Given the description of an element on the screen output the (x, y) to click on. 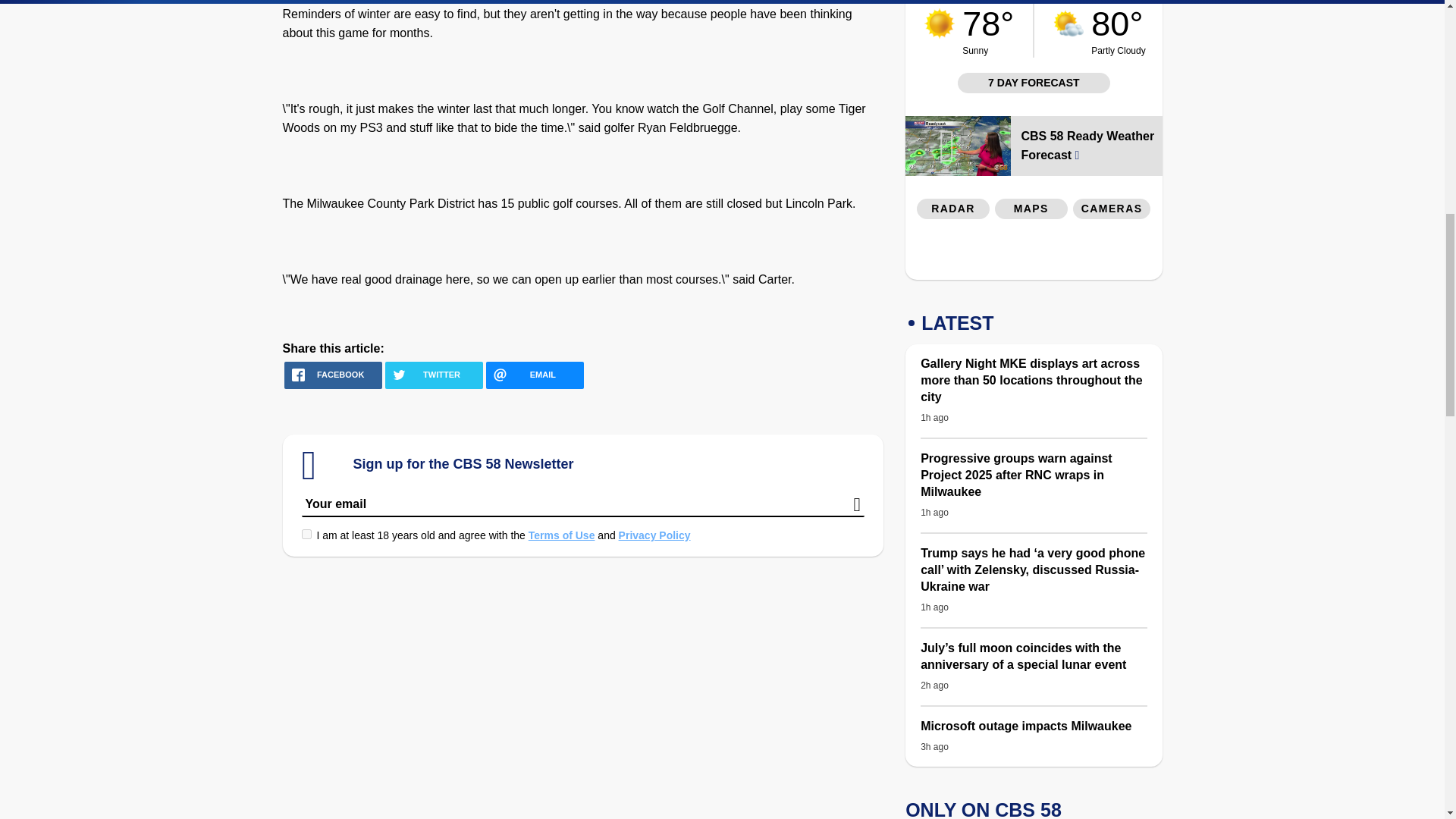
weather (1067, 23)
weather (939, 23)
weather (987, 28)
weather (1118, 28)
3rd party ad content (1034, 252)
on (306, 533)
